Given the description of an element on the screen output the (x, y) to click on. 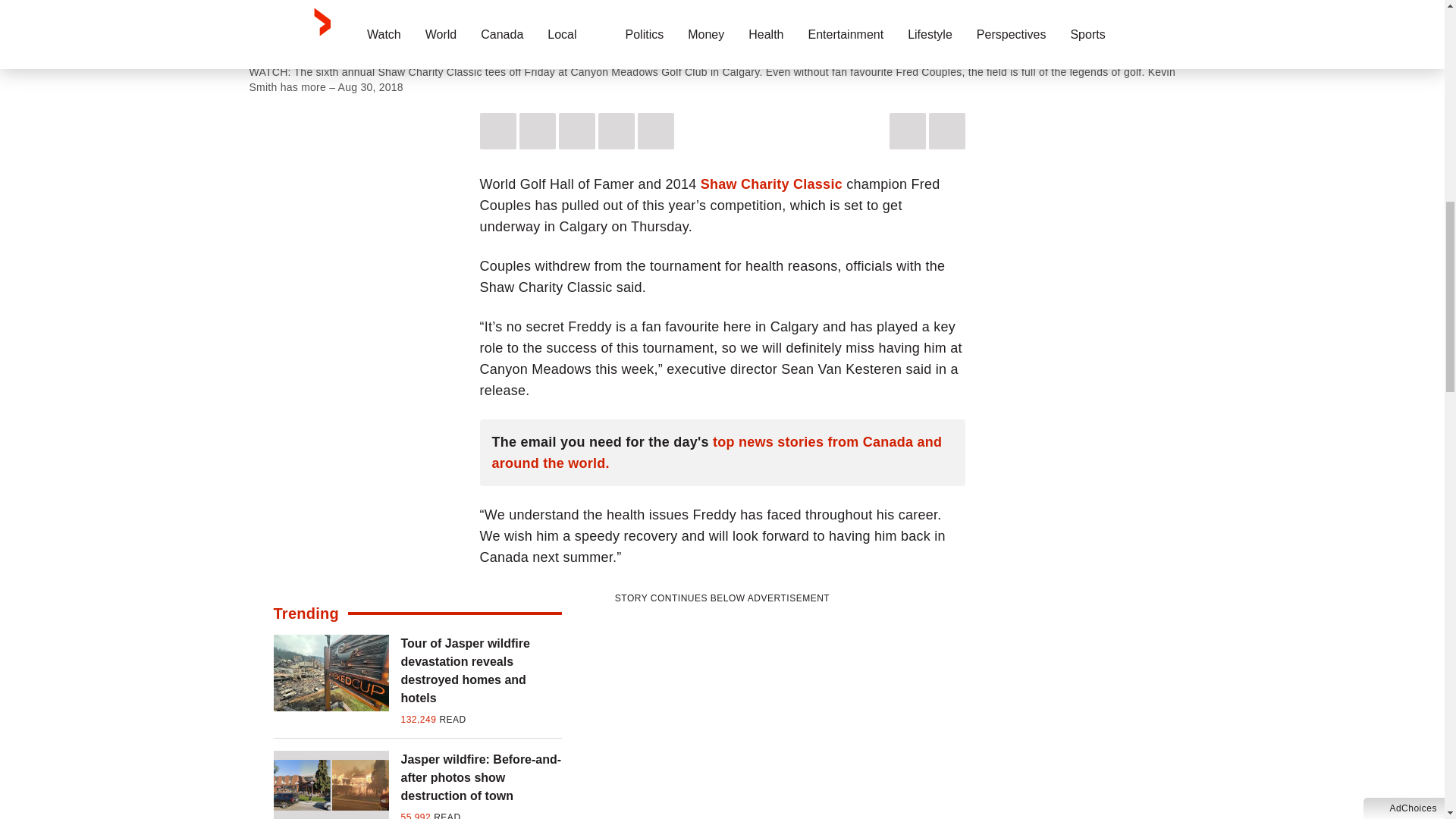
3rd party ad content (721, 701)
Sticky Video (721, 26)
